Given the description of an element on the screen output the (x, y) to click on. 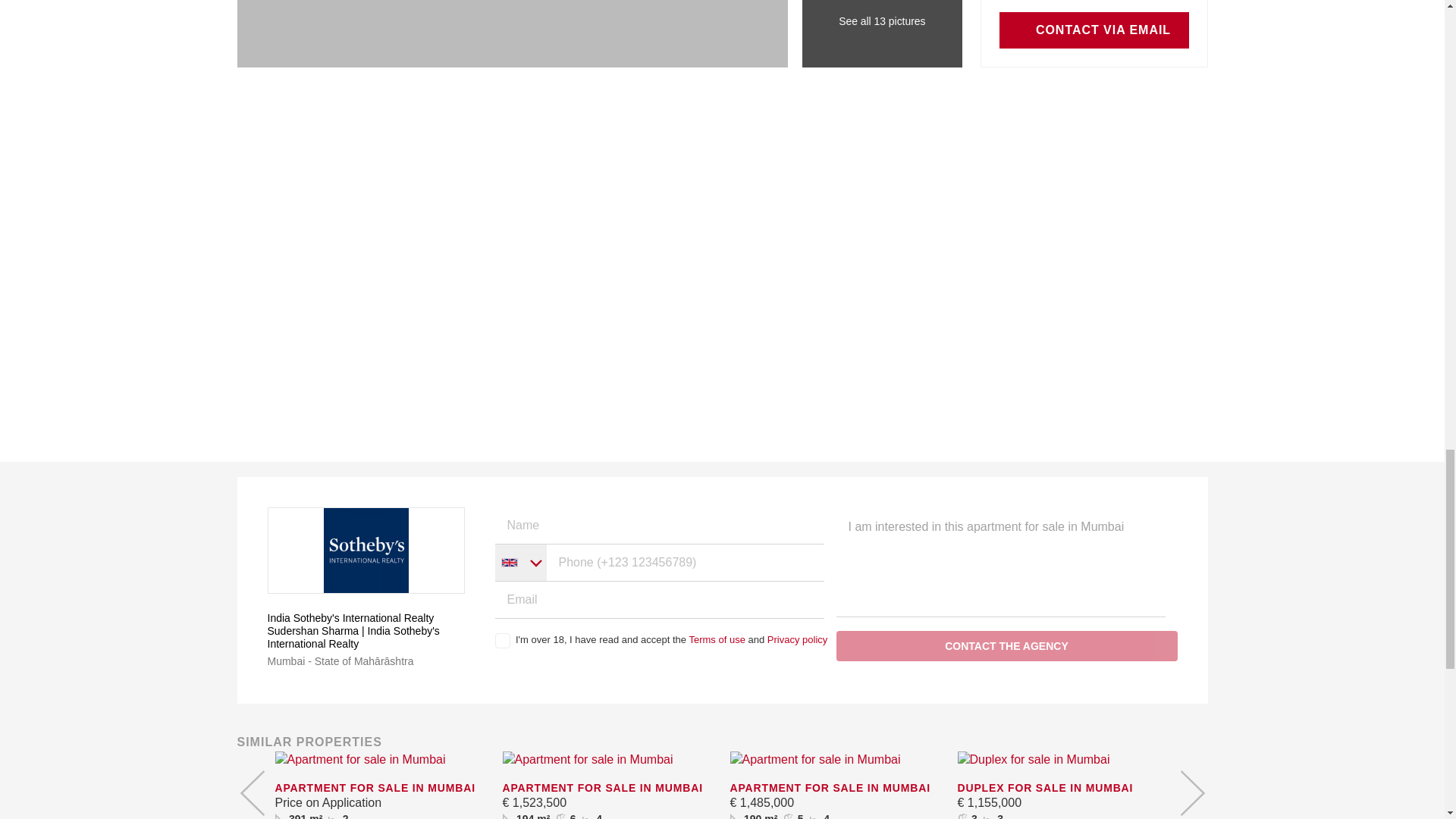
APARTMENT FOR SALE IN MUMBAI (835, 788)
APARTMENT FOR SALE IN MUMBAI (608, 788)
India Sotheby's International Realty (365, 617)
APARTMENT FOR SALE IN MUMBAI (380, 788)
Terms of use (716, 639)
CONTACT THE AGENCY (1005, 645)
on (502, 640)
DUPLEX FOR SALE IN MUMBAI (1062, 788)
Privacy policy (797, 639)
